Given the description of an element on the screen output the (x, y) to click on. 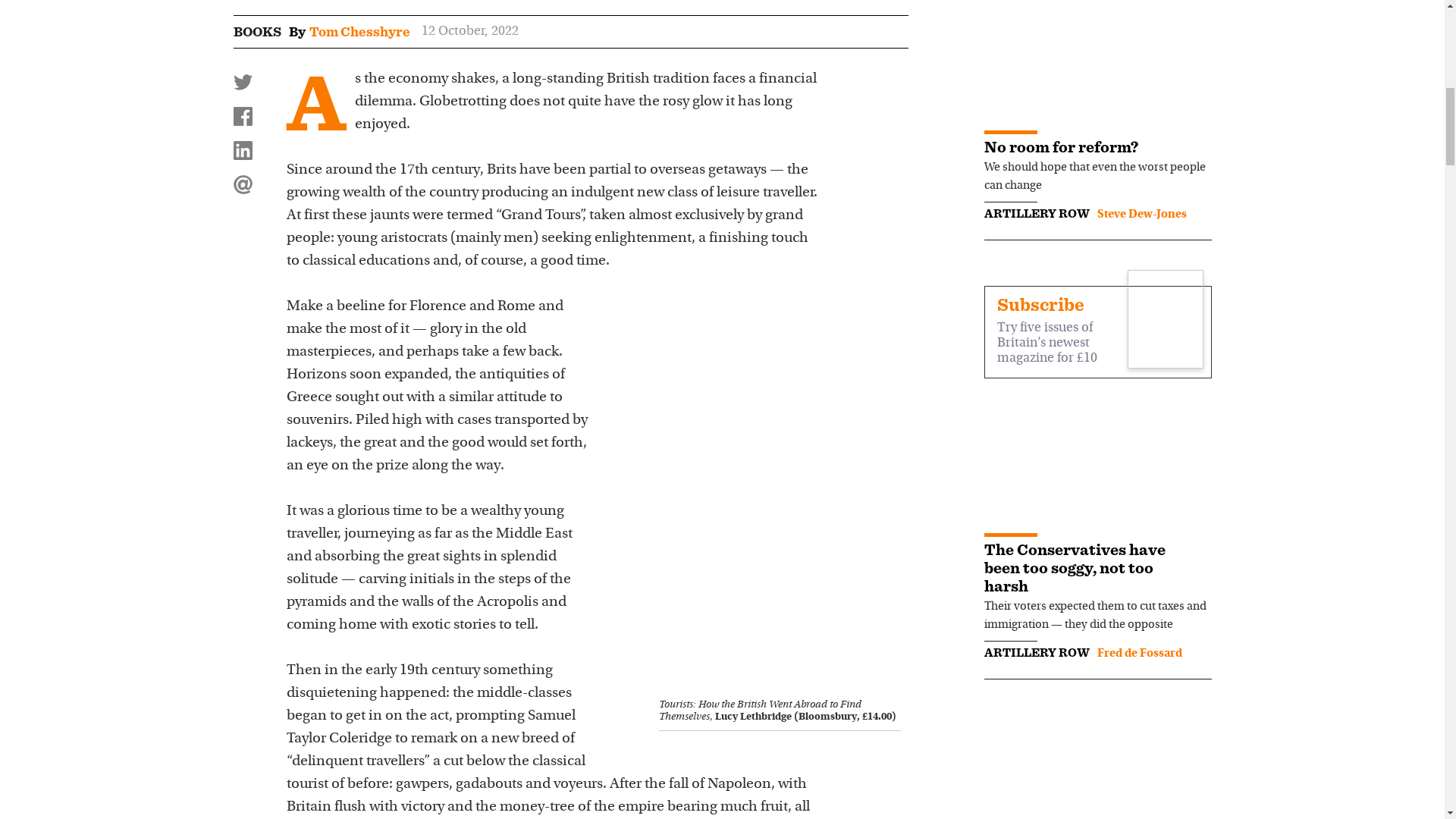
BOOKS (256, 31)
Posts by Steve Dew-Jones (1141, 214)
Posts by Fred de Fossard (1138, 653)
Tom Chesshyre (359, 31)
Posts by Tom Chesshyre (359, 31)
